Given the description of an element on the screen output the (x, y) to click on. 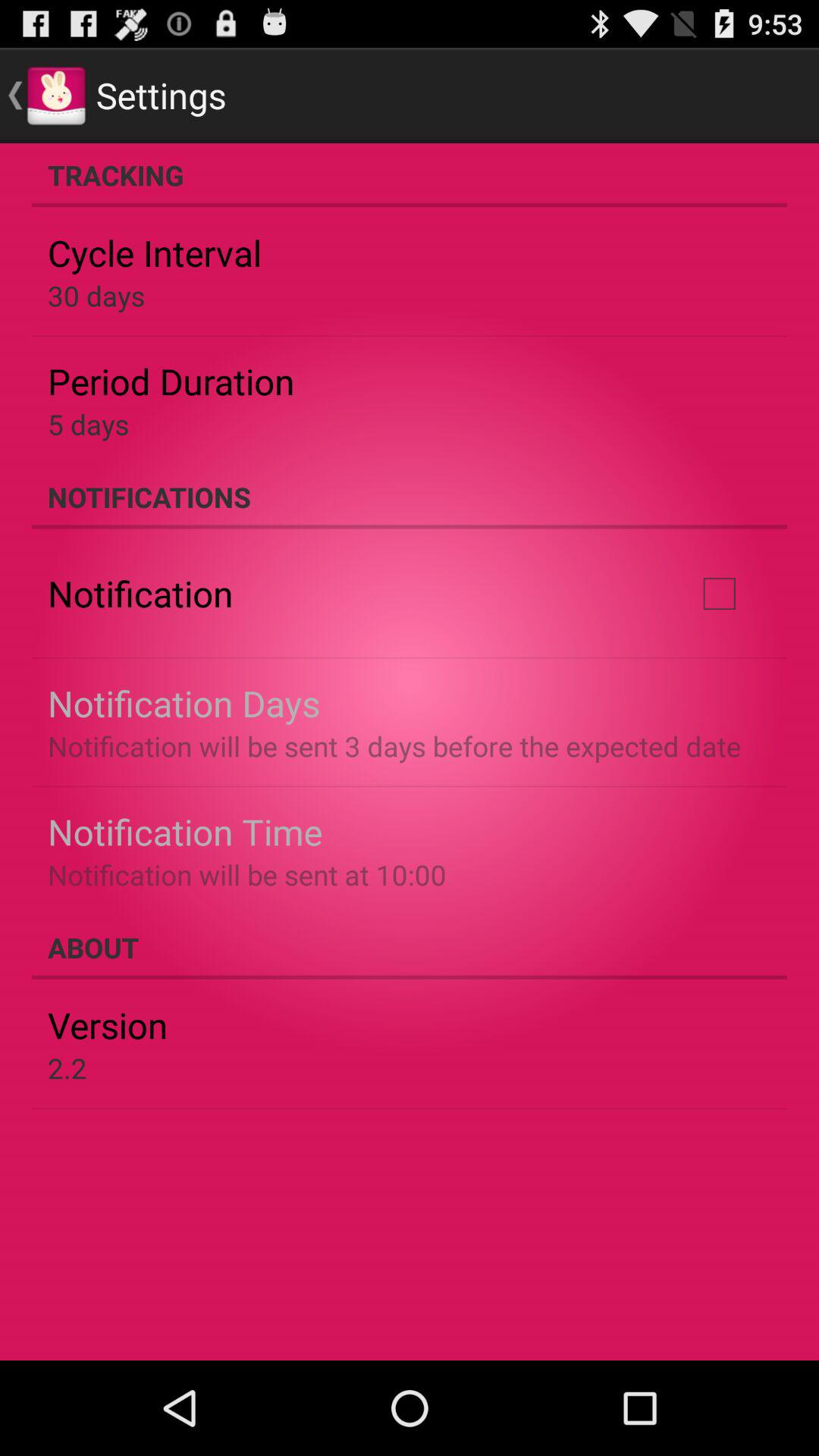
click item above the cycle interval item (409, 175)
